Given the description of an element on the screen output the (x, y) to click on. 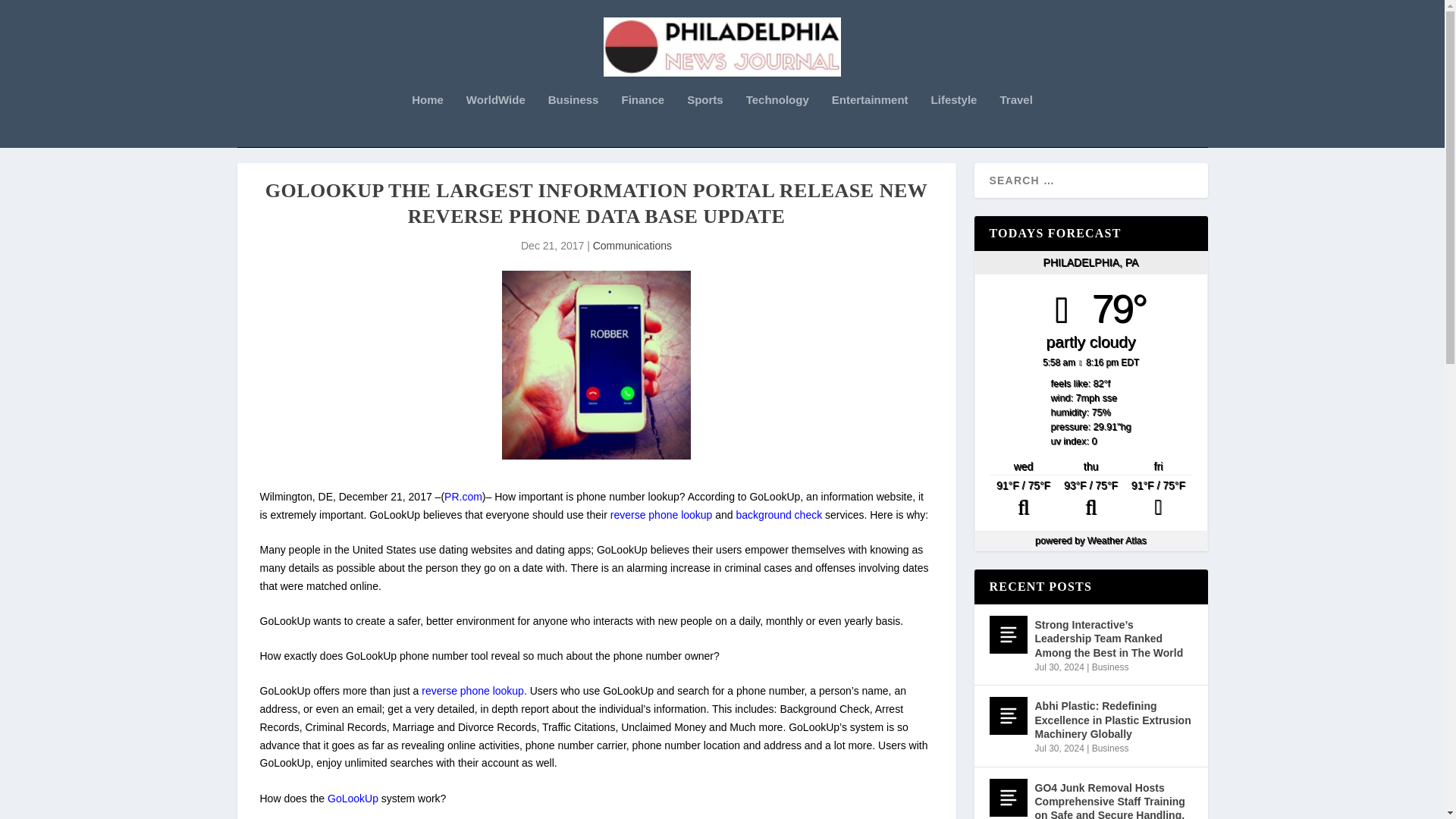
PM Thunderstorms (1158, 498)
Entertainment (869, 120)
Sports (705, 120)
Lifestyle (953, 120)
background check (779, 514)
Partly Cloudy (1090, 498)
reverse phone lookup (661, 514)
GoLookUp (352, 798)
WorldWide (495, 120)
reverse phone lookup (473, 690)
Home (428, 120)
PR.com (462, 496)
Technology (777, 120)
Business (573, 120)
